Given the description of an element on the screen output the (x, y) to click on. 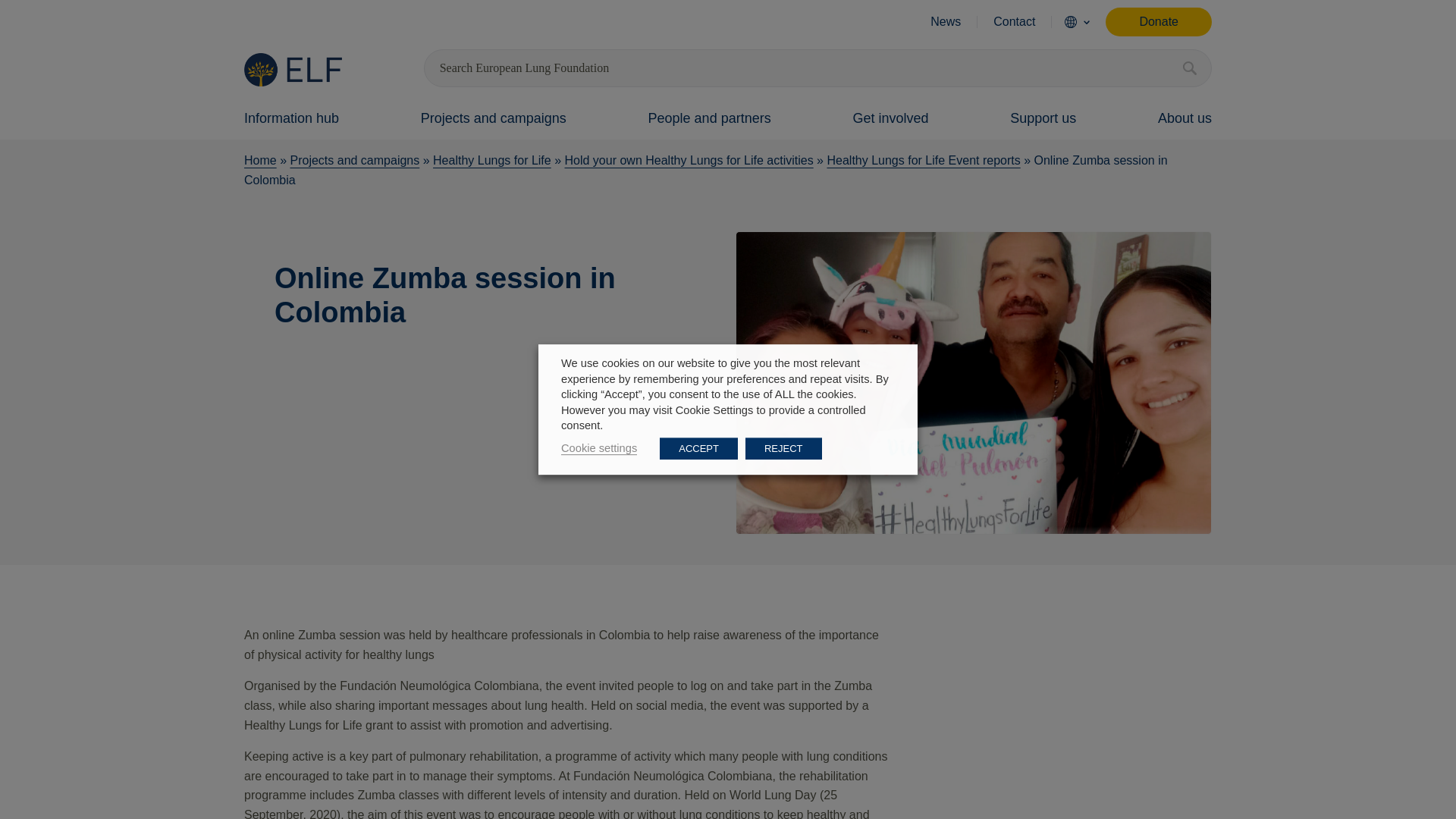
News (945, 21)
Contact (1013, 21)
Information hub (291, 115)
Language (1070, 21)
Projects and campaigns (493, 115)
Donate (1158, 21)
